Given the description of an element on the screen output the (x, y) to click on. 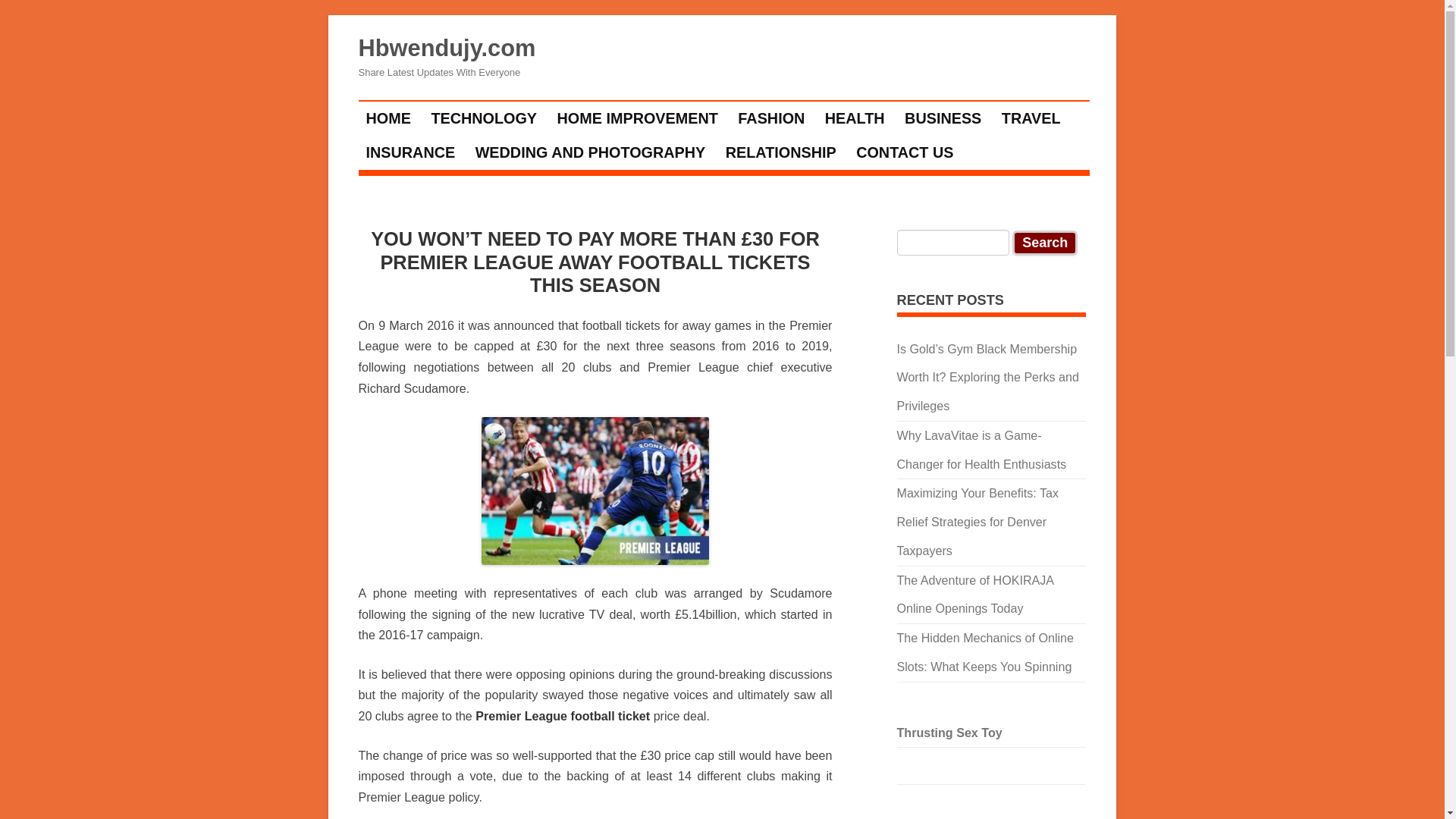
INSURANCE (411, 152)
Skip to content (765, 105)
TRAVEL (1030, 118)
Why LavaVitae is a Game-Changer for Health Enthusiasts (980, 449)
Premier League football ticket (562, 715)
Search (1044, 242)
WEDDING AND PHOTOGRAPHY (590, 152)
FASHION (770, 118)
